Given the description of an element on the screen output the (x, y) to click on. 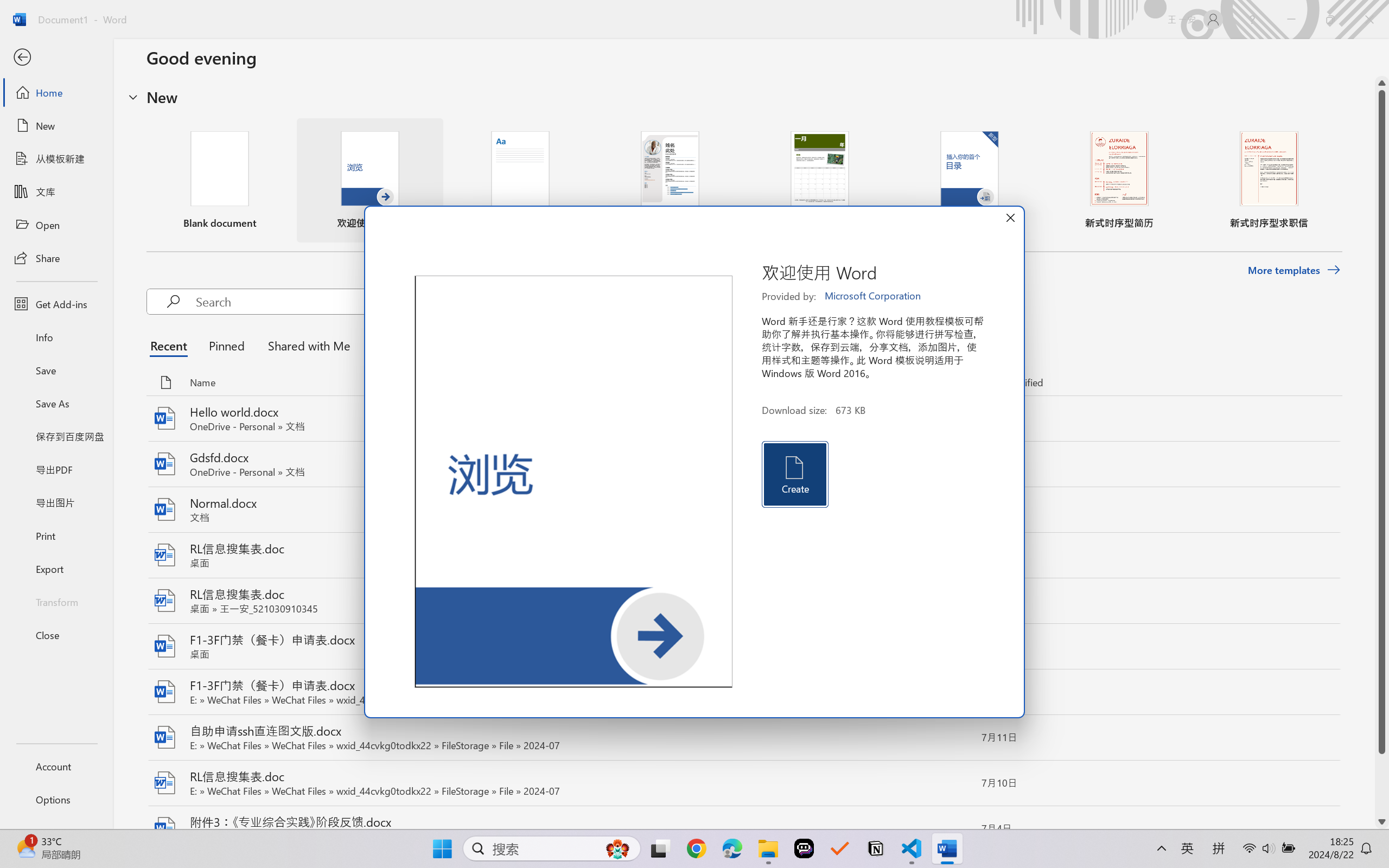
Google Chrome (696, 848)
Account (56, 765)
